Given the description of an element on the screen output the (x, y) to click on. 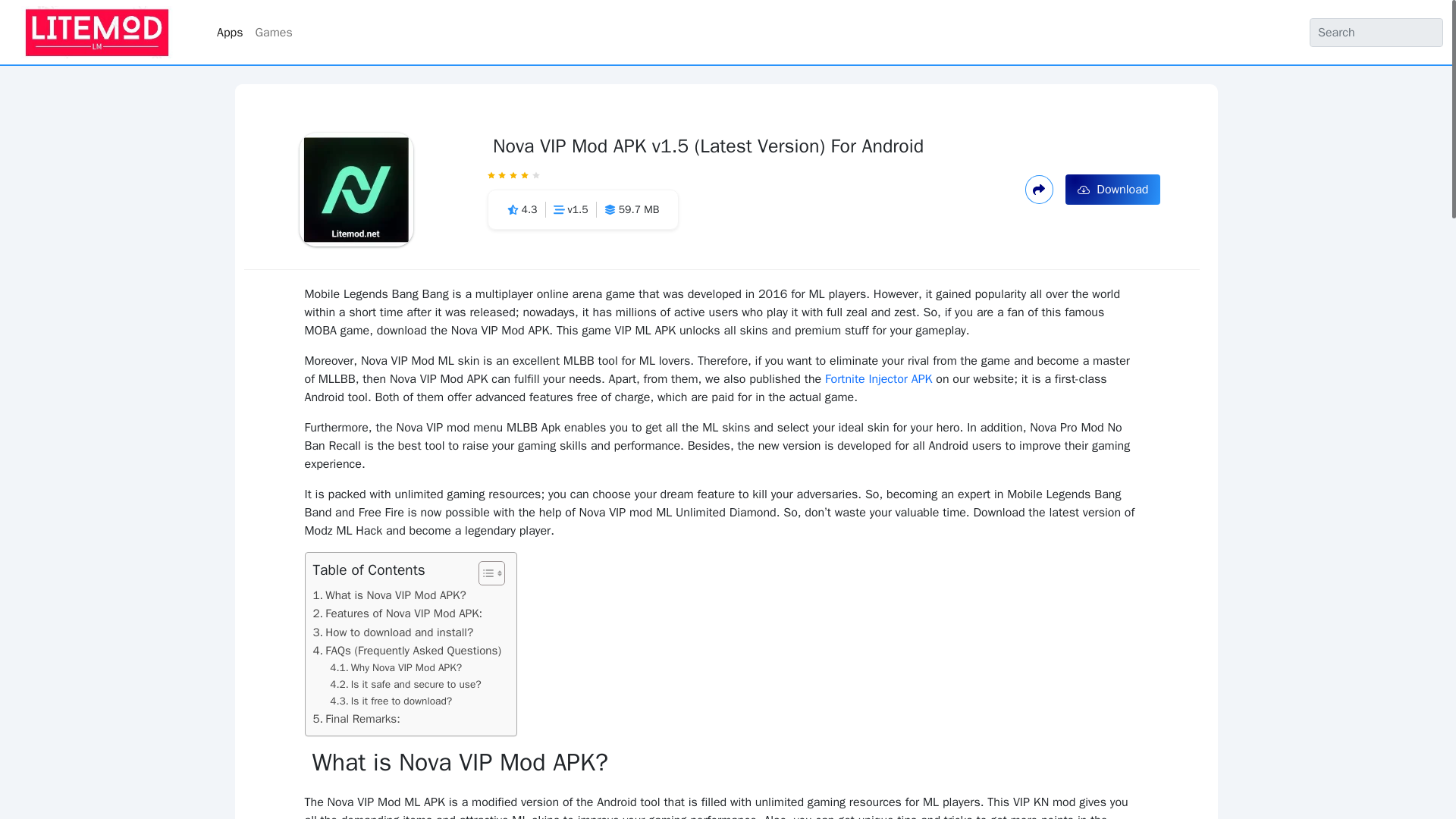
How to download and install? (393, 632)
Features of Nova VIP Mod APK: (397, 613)
Is it safe and secure to use? (405, 684)
Is it free to download? (390, 701)
Games (273, 32)
Final Remarks: (355, 719)
What is Nova VIP Mod APK? (389, 595)
Why Nova VIP Mod APK? (395, 668)
Fortnite Injector APK (879, 378)
Apps (229, 32)
How to download and install? (393, 632)
Final Remarks: (355, 719)
 Download (1112, 189)
What is Nova VIP Mod APK? (389, 595)
Is it free to download? (390, 701)
